Given the description of an element on the screen output the (x, y) to click on. 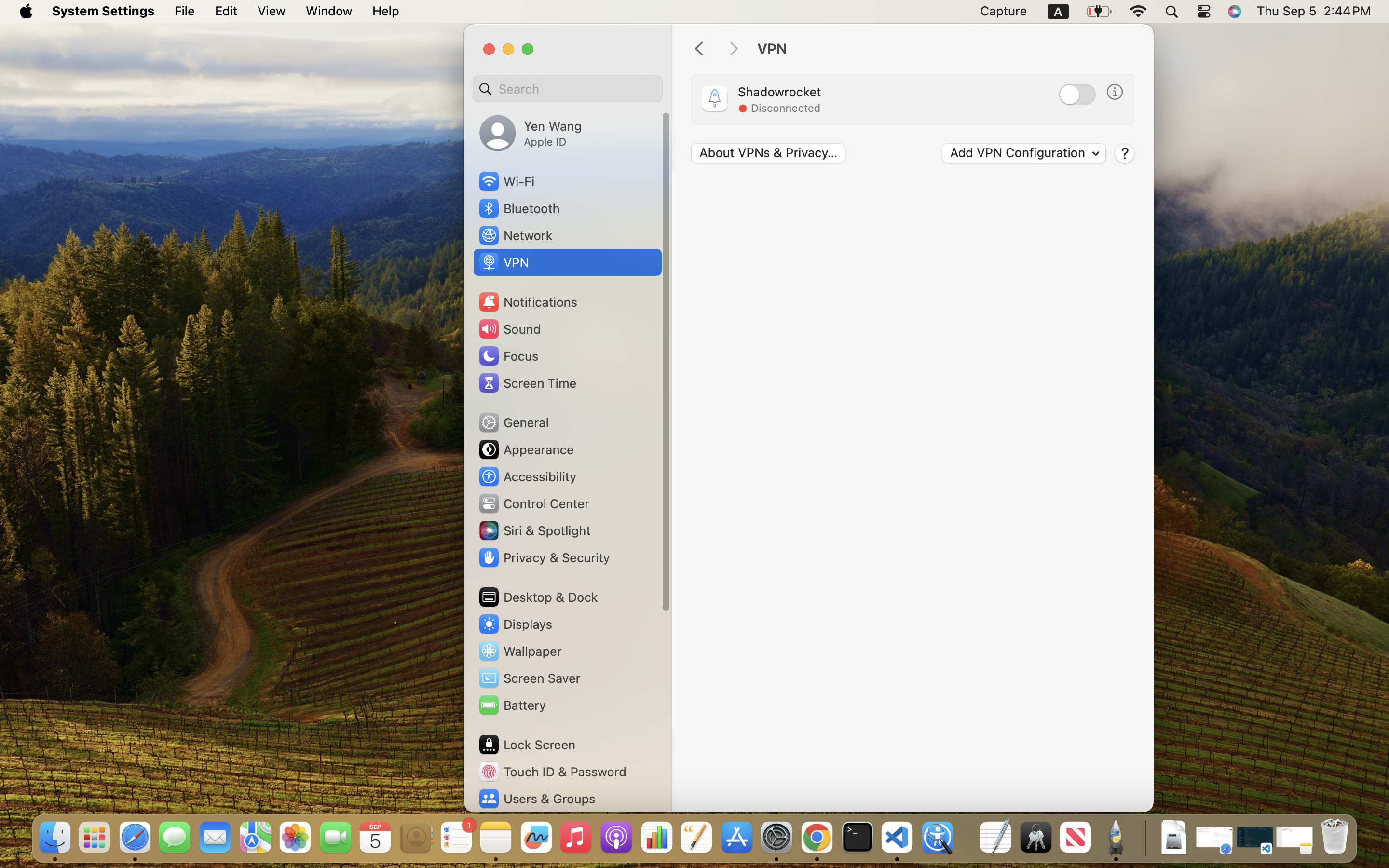
Accessibility Element type: AXStaticText (526, 476)
Focus Element type: AXStaticText (507, 355)
0.4285714328289032 Element type: AXDockItem (965, 837)
